Given the description of an element on the screen output the (x, y) to click on. 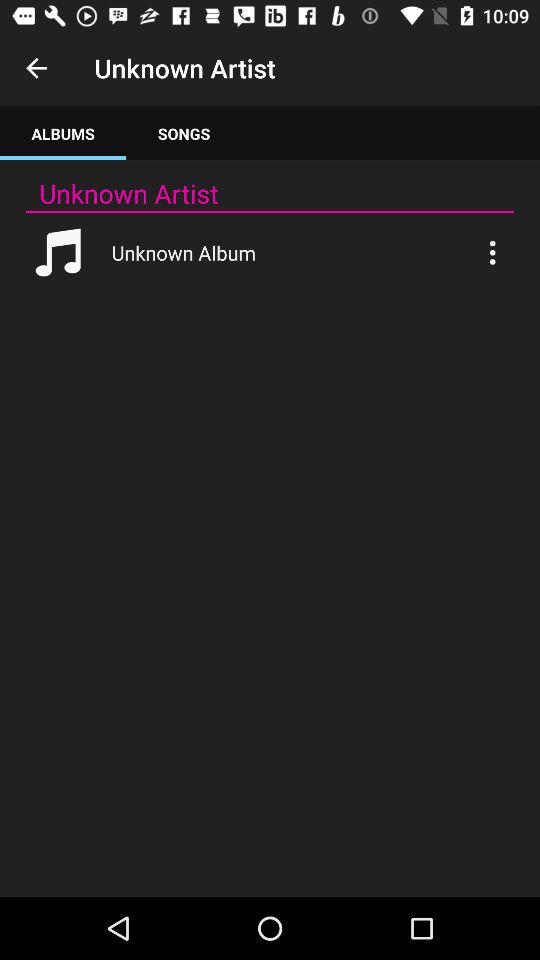
turn off item next to the albums item (183, 133)
